Given the description of an element on the screen output the (x, y) to click on. 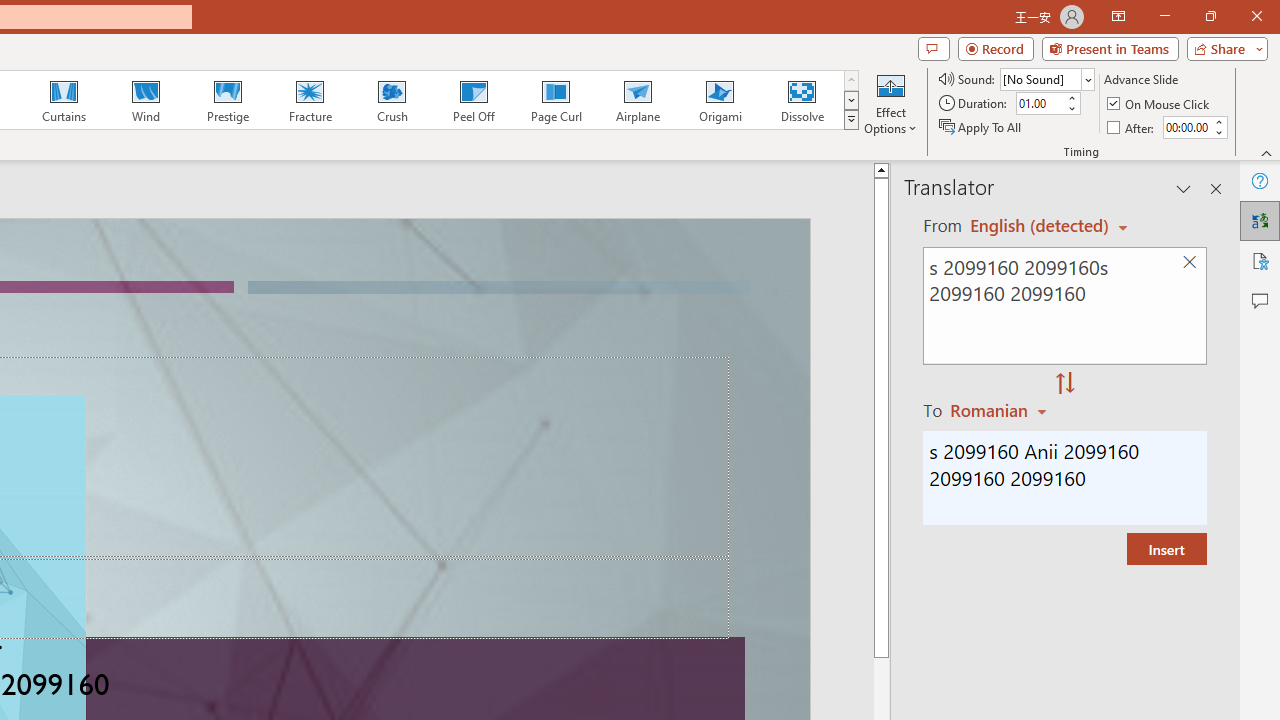
Romanian (1001, 409)
Airplane (637, 100)
After (1131, 126)
Prestige (227, 100)
Wind (145, 100)
Sound (1046, 78)
